Given the description of an element on the screen output the (x, y) to click on. 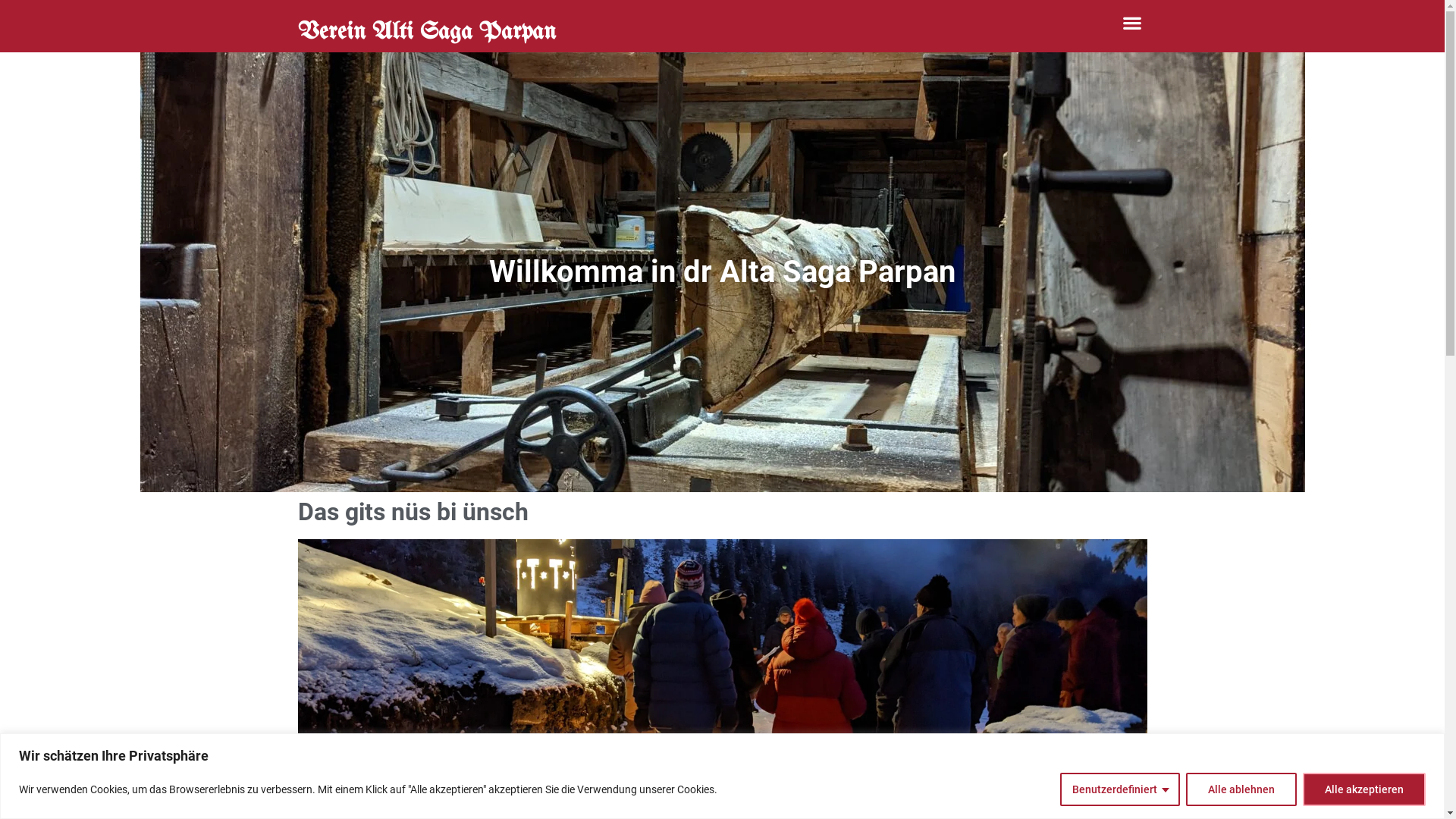
Benutzerdefiniert Element type: text (1119, 788)
Verein Alti Saga Parpan Element type: text (426, 31)
Alle ablehnen Element type: text (1241, 788)
Alle akzeptieren Element type: text (1363, 788)
